Given the description of an element on the screen output the (x, y) to click on. 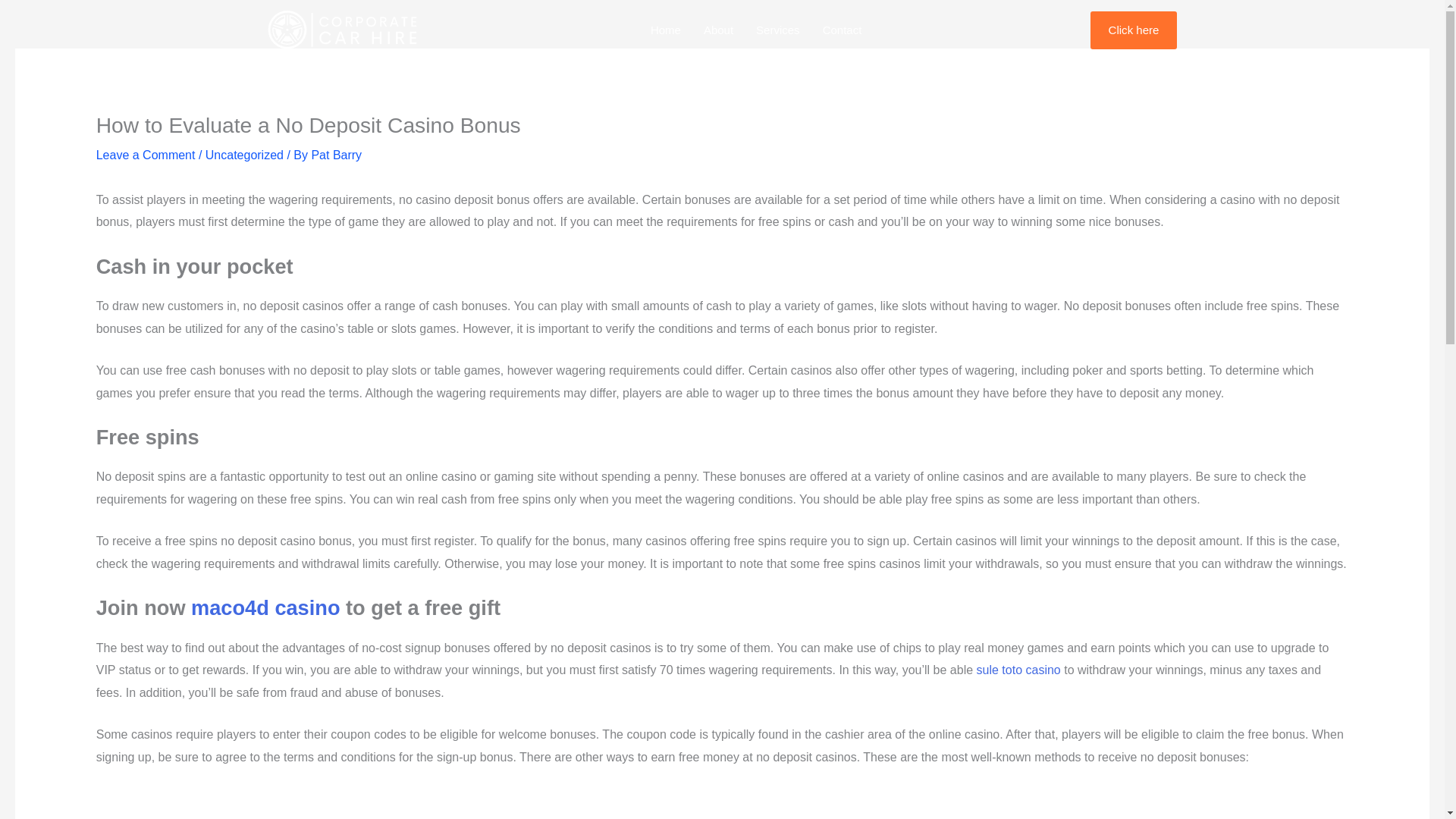
Home (666, 29)
Click here (1133, 29)
Pat Barry (336, 154)
View all posts by Pat Barry (336, 154)
sule toto casino (1018, 669)
Services (777, 29)
maco4d casino (264, 607)
Contact (841, 29)
About (718, 29)
Leave a Comment (145, 154)
Uncategorized (244, 154)
